Given the description of an element on the screen output the (x, y) to click on. 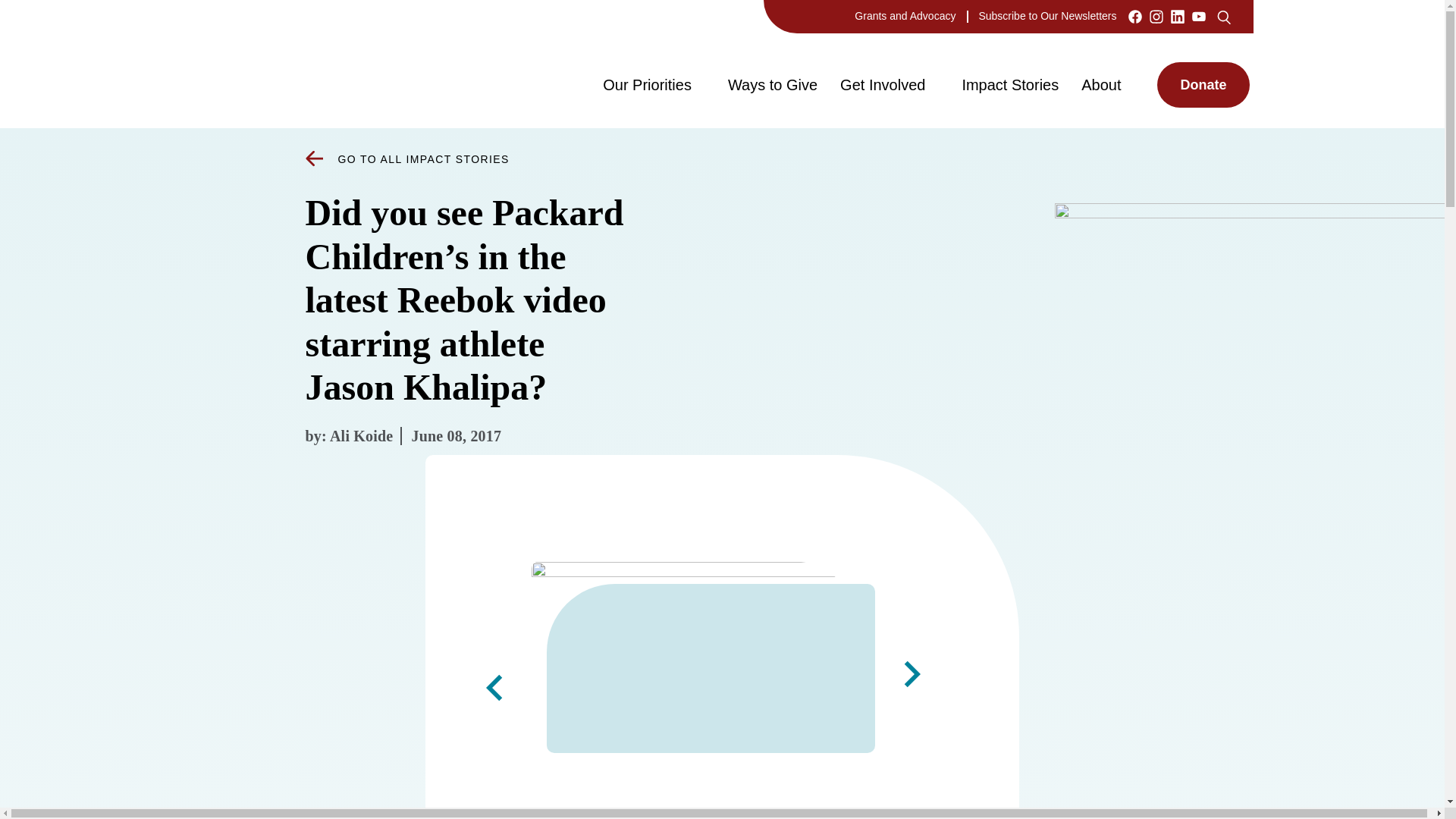
Impact Stories (1009, 83)
Grants and Advocacy (904, 15)
Subscribe to Our Newsletters (1047, 15)
Ways to Give (772, 83)
